Given the description of an element on the screen output the (x, y) to click on. 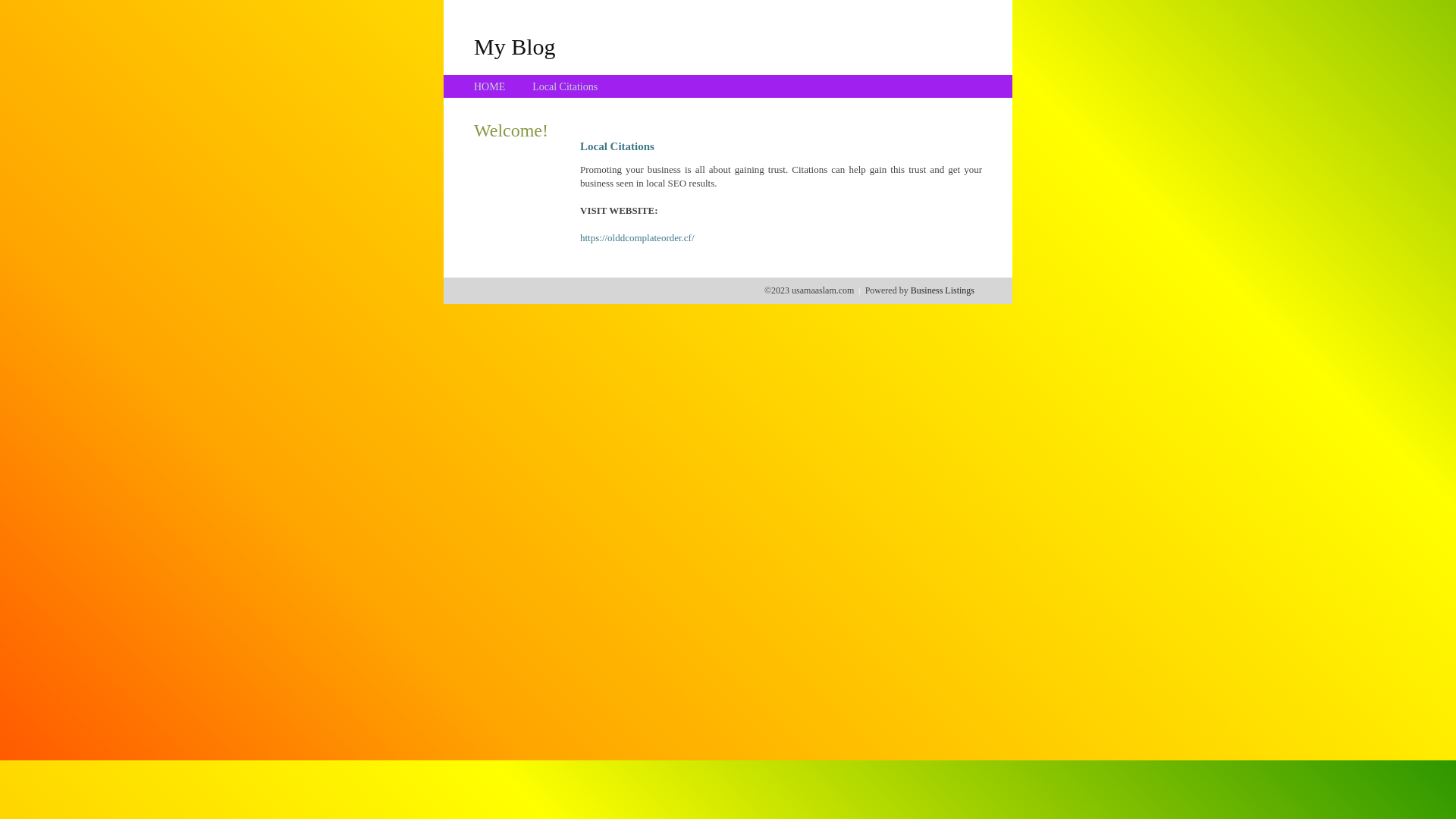
HOME Element type: text (489, 86)
https://olddcomplateorder.cf/ Element type: text (637, 237)
Business Listings Element type: text (942, 290)
Local Citations Element type: text (564, 86)
My Blog Element type: text (514, 46)
